Given the description of an element on the screen output the (x, y) to click on. 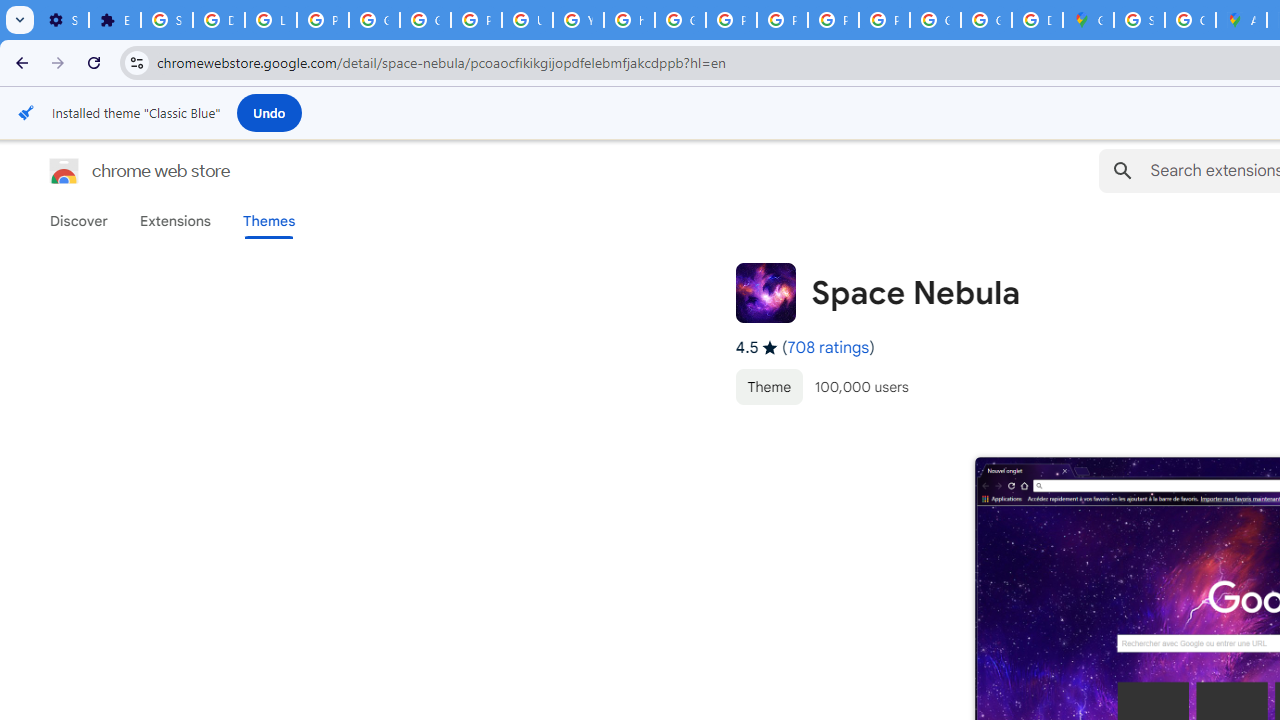
YouTube (578, 20)
Extensions (174, 221)
Chrome Web Store logo (63, 170)
Create your Google Account (1189, 20)
708 ratings (828, 347)
Forward (57, 62)
View site information (136, 62)
Sign in - Google Accounts (1138, 20)
Chrome Web Store logo chrome web store (118, 170)
